Given the description of an element on the screen output the (x, y) to click on. 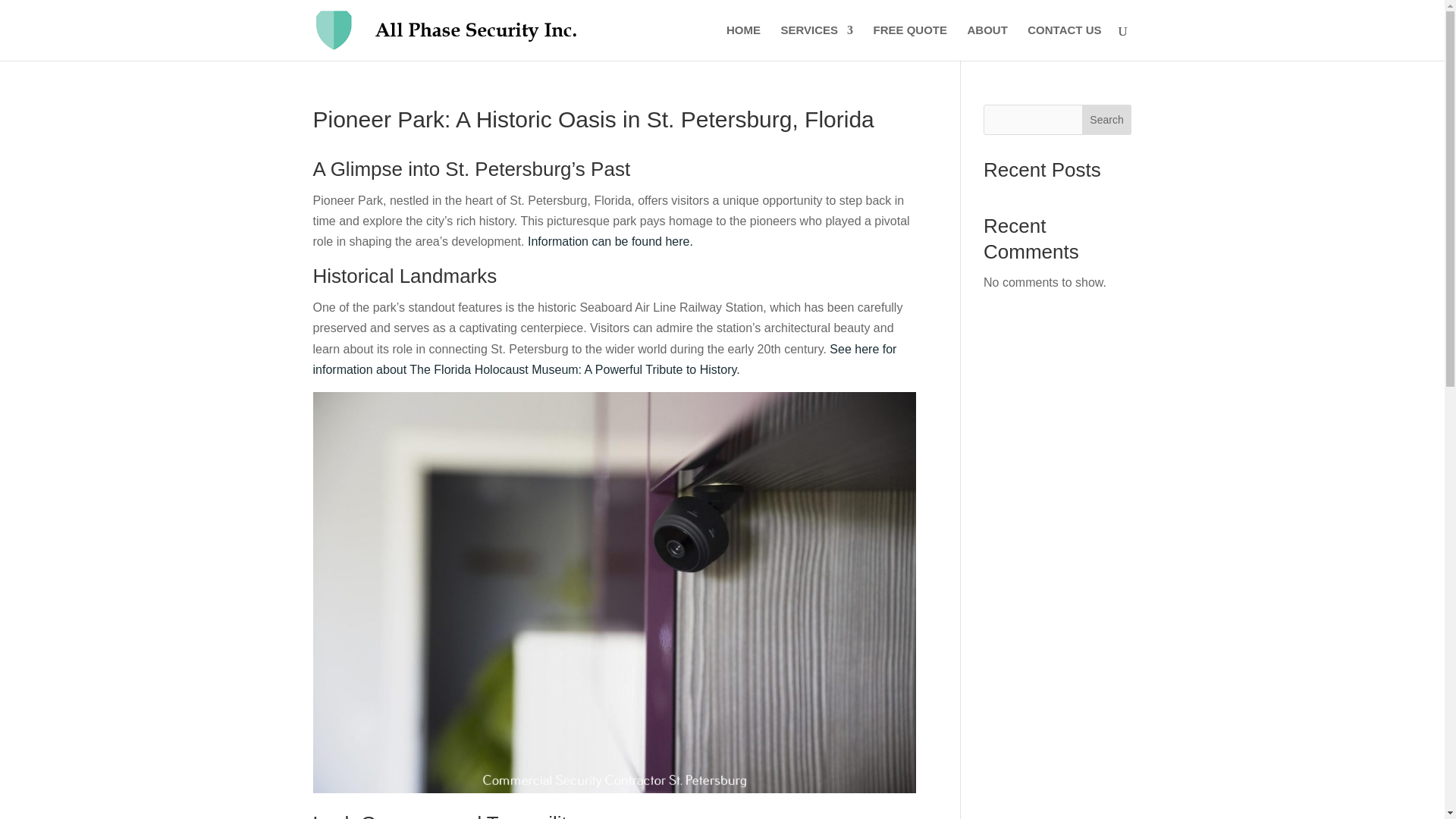
Search (1106, 119)
Information can be found here. (610, 241)
CONTACT US (1063, 42)
HOME (743, 42)
SERVICES (816, 42)
ABOUT (987, 42)
FREE QUOTE (910, 42)
